Given the description of an element on the screen output the (x, y) to click on. 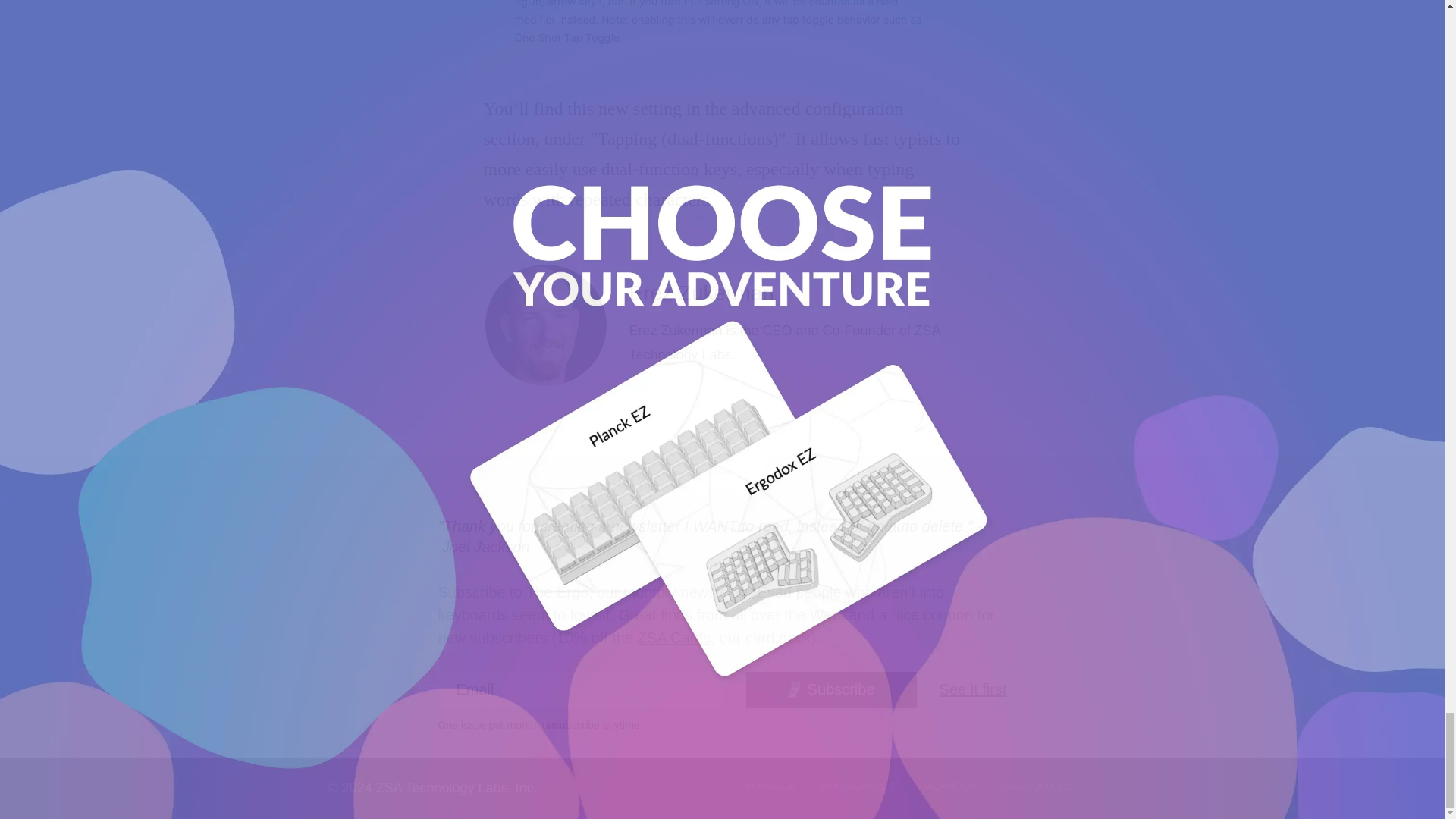
ERGODOX EZ (1036, 788)
VOYAGER (770, 788)
See it first (973, 689)
HALFMOON (948, 788)
MOONLANDER (857, 788)
ZSA Cards (674, 637)
Subscribe (831, 689)
